Given the description of an element on the screen output the (x, y) to click on. 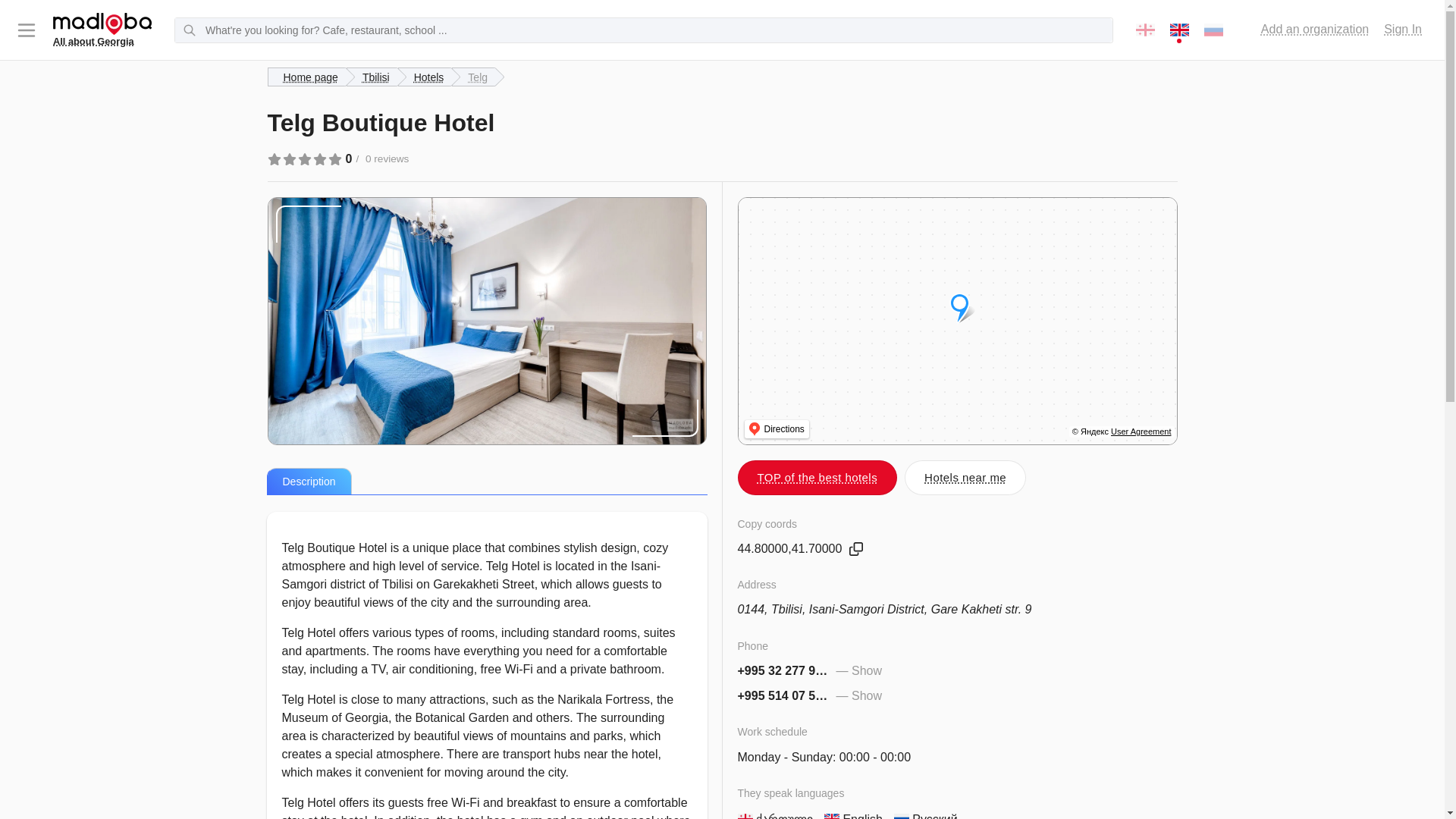
Hotels near me (965, 477)
Home page (305, 76)
Directions (776, 429)
Telg (473, 76)
All about Georgia (101, 29)
TOP of the best hotels (816, 477)
Tbilisi (371, 76)
Sign In (1403, 29)
User Agreement (1140, 430)
Add an organization (1314, 29)
